Given the description of an element on the screen output the (x, y) to click on. 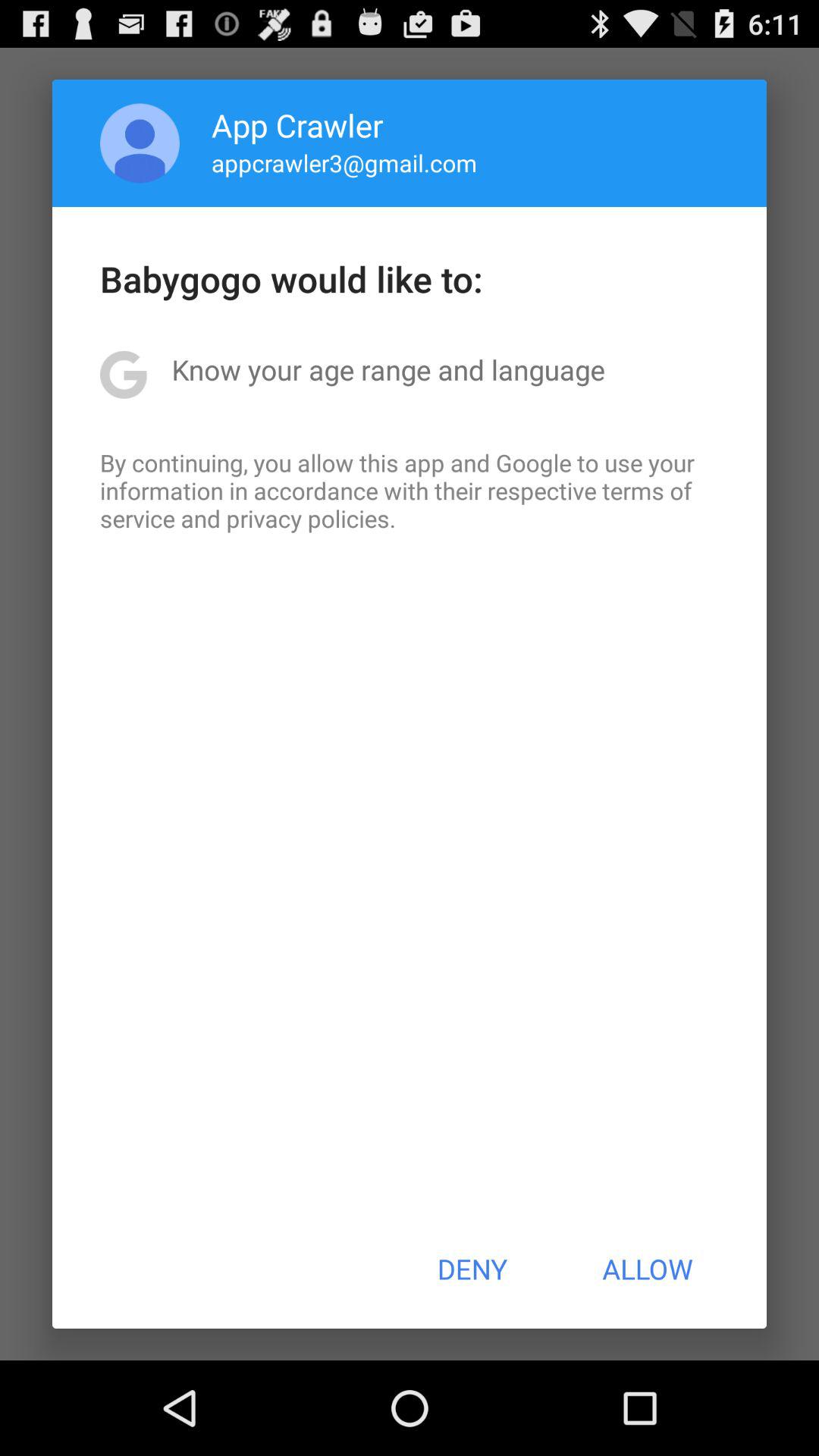
press the app below the babygogo would like app (388, 369)
